Given the description of an element on the screen output the (x, y) to click on. 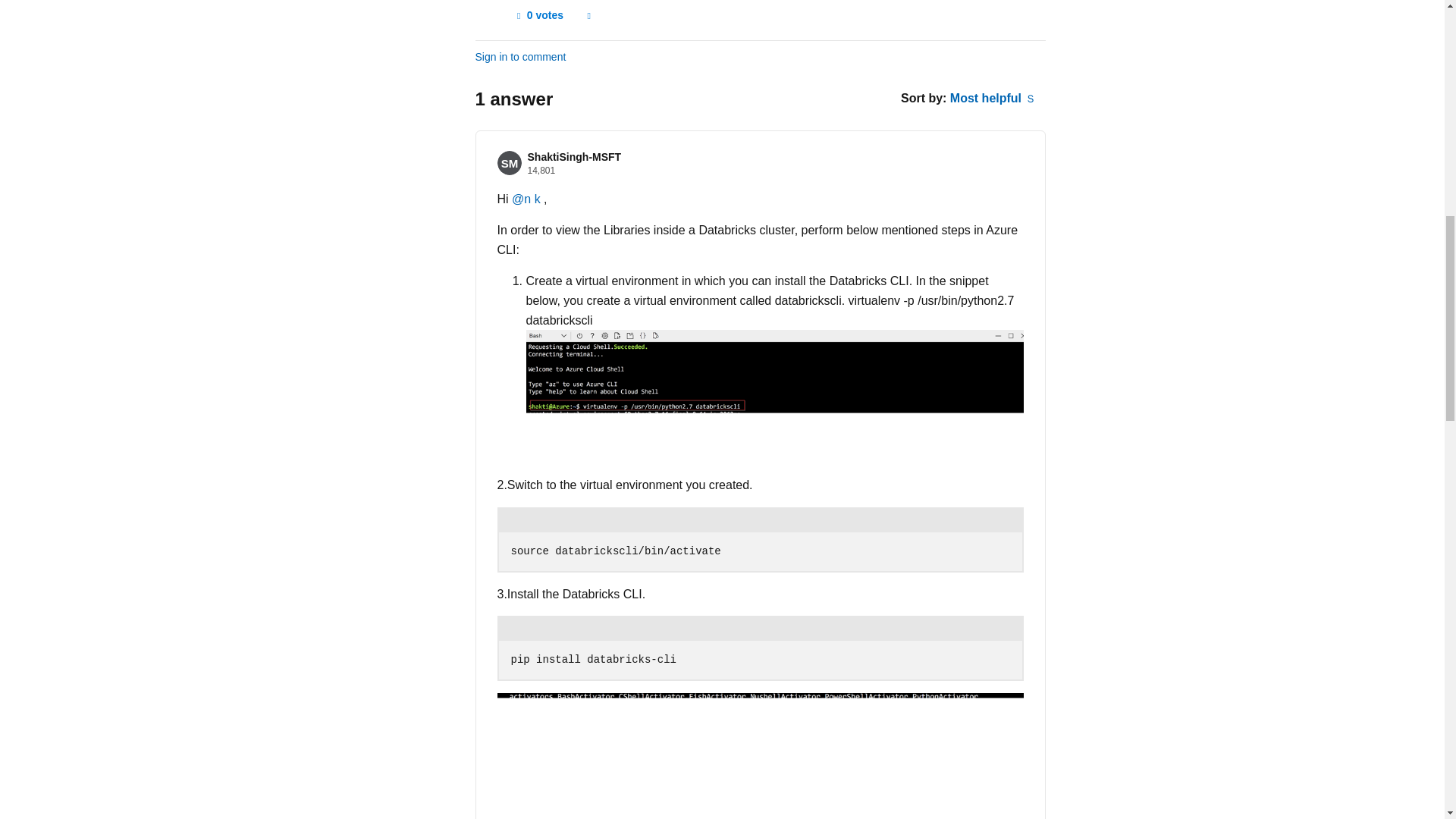
Report a concern (588, 15)
This comment is helpful (538, 15)
ShaktiSingh-MSFT (574, 156)
Reputation points (541, 170)
0 votes (538, 15)
Sign in to comment (520, 57)
Report a concern (588, 15)
